Given the description of an element on the screen output the (x, y) to click on. 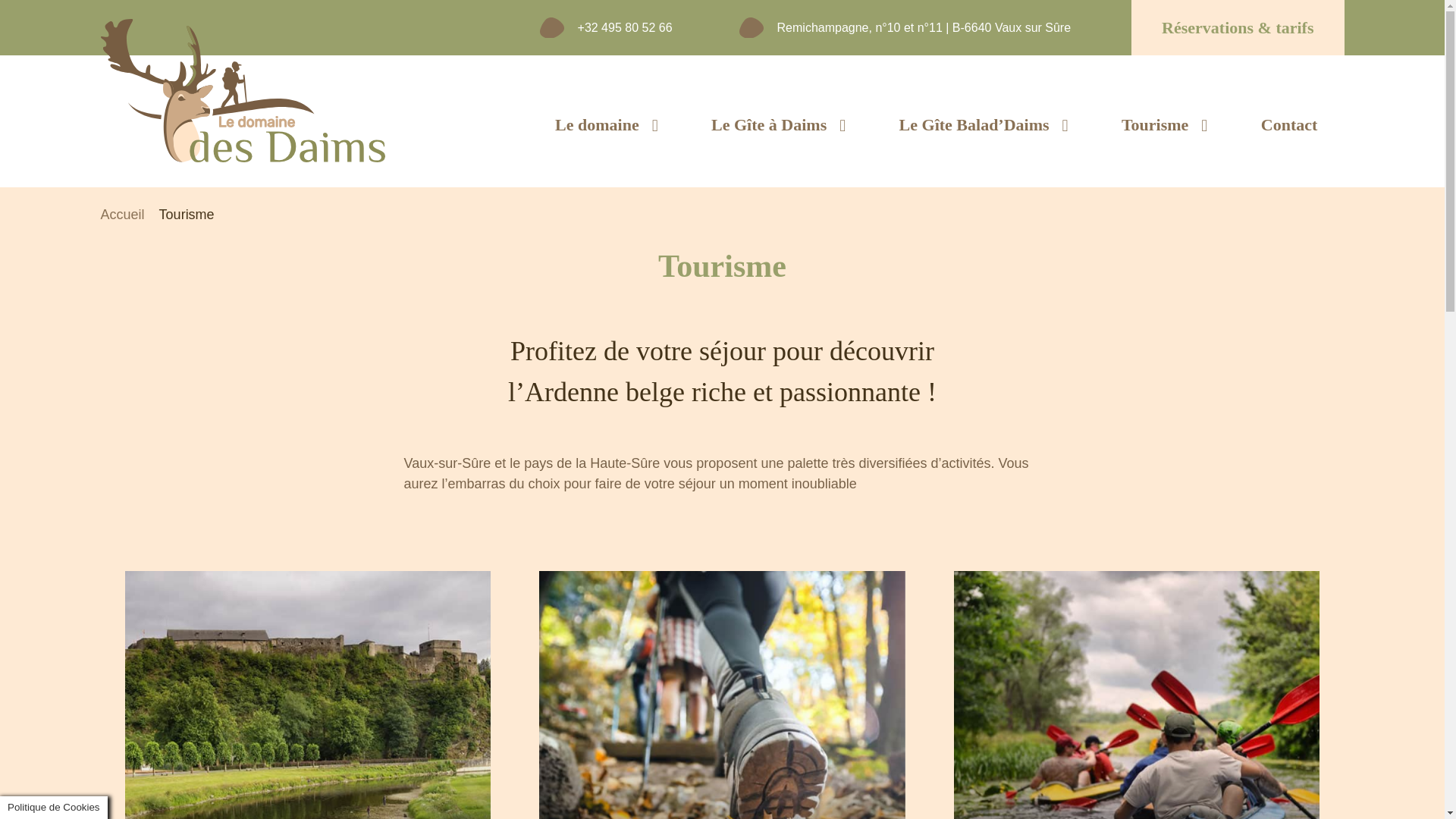
Tourisme Element type: text (1164, 124)
Le domaine Element type: text (606, 124)
+32 495 80 52 66 Element type: text (624, 27)
Contact Element type: text (1289, 124)
Accueil Element type: text (122, 214)
